Given the description of an element on the screen output the (x, y) to click on. 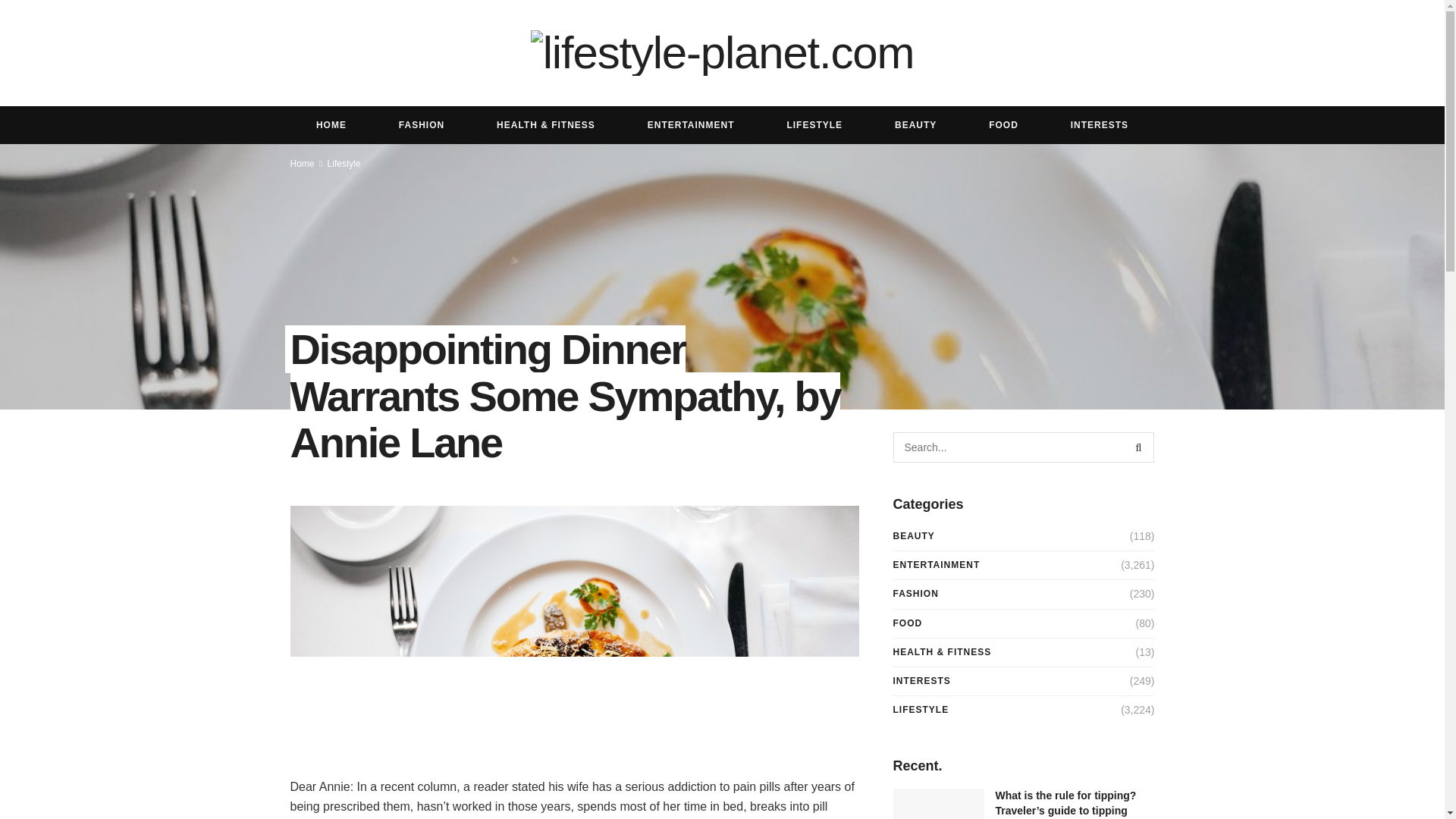
INTERESTS (1098, 125)
BEAUTY (915, 125)
Lifestyle (344, 163)
FOOD (1003, 125)
LIFESTYLE (814, 125)
Home (301, 163)
ENTERTAINMENT (936, 565)
HOME (330, 125)
FOOD (908, 623)
FASHION (421, 125)
INTERESTS (921, 681)
FASHION (916, 593)
ENTERTAINMENT (690, 125)
BEAUTY (913, 536)
